Given the description of an element on the screen output the (x, y) to click on. 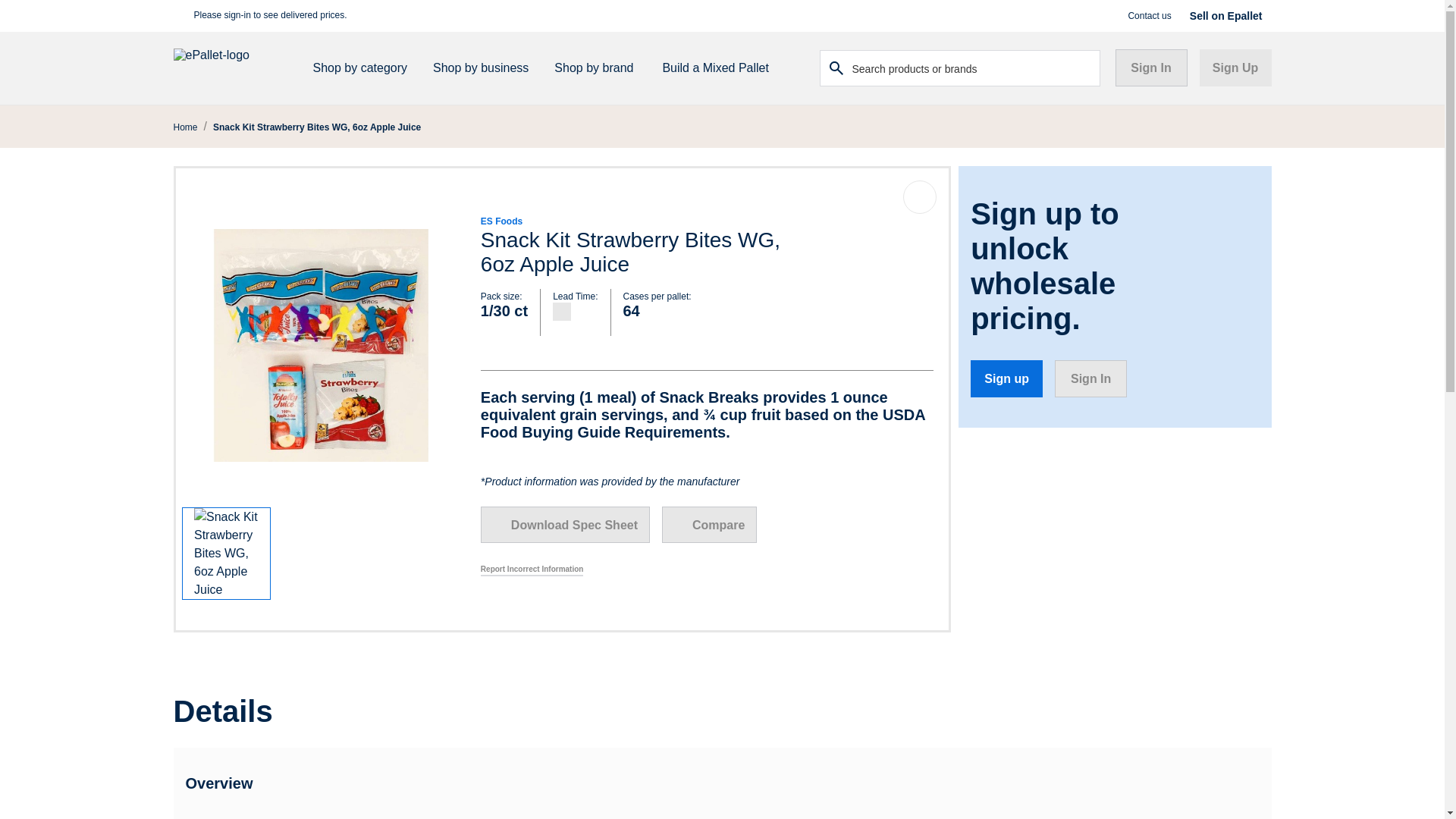
Compare (709, 524)
Contact us (1148, 15)
Shop by category (365, 67)
Home (185, 126)
Sign In (1150, 67)
Build a Mixed Pallet (713, 67)
Sign Up (1235, 67)
Sign up (1006, 378)
Download Spec Sheet (564, 524)
Shop by brand (598, 67)
